Given the description of an element on the screen output the (x, y) to click on. 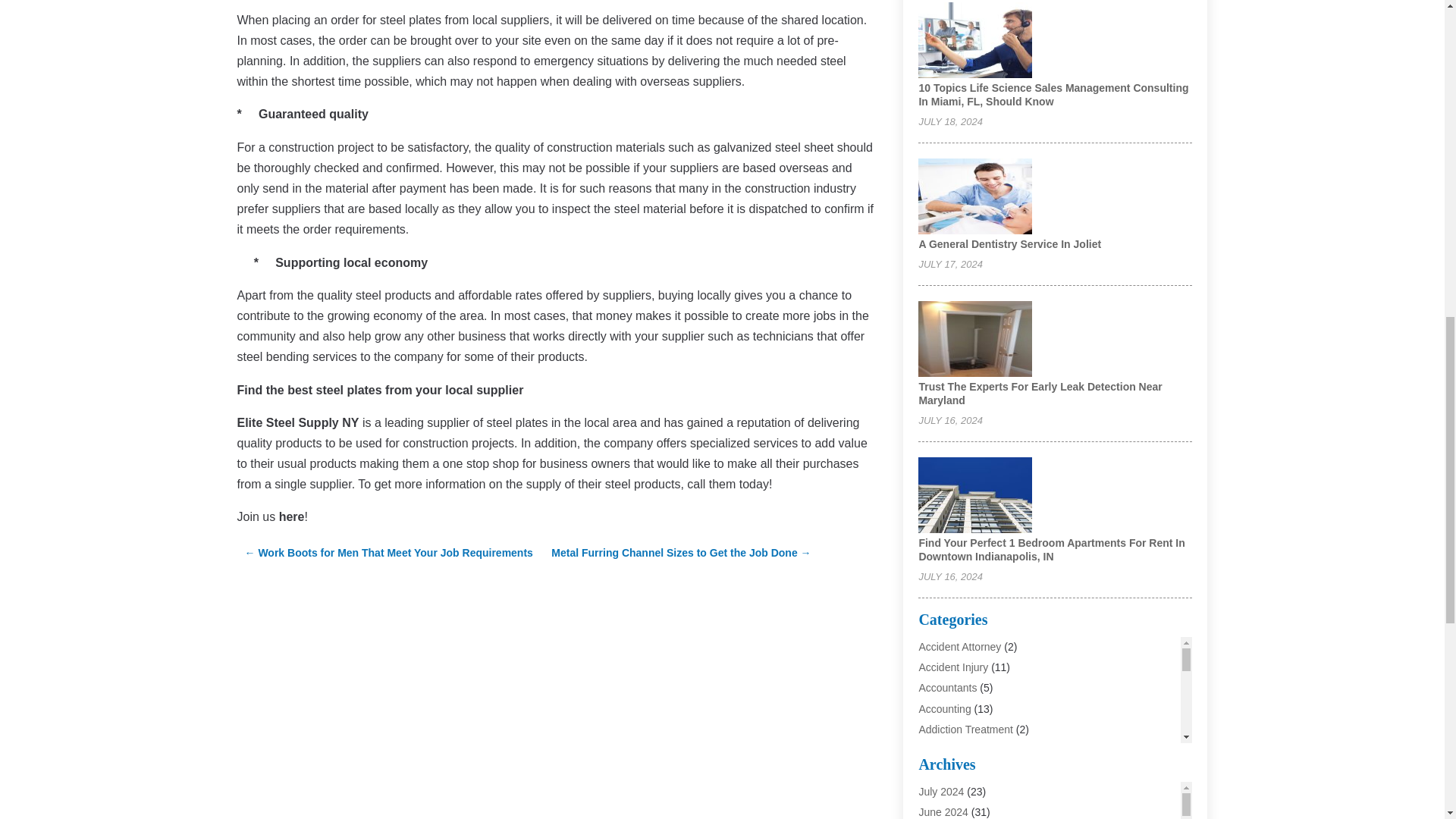
Accountants (947, 687)
Adventure And Sports (970, 811)
Addiction Treatment Center (982, 749)
Trust The Experts For Early Leak Detection Near Maryland (1039, 393)
Accounting (944, 708)
Addiction Treatment (965, 729)
Accident Attorney (959, 646)
Addiction Treatment Support (985, 770)
Accident Injury (953, 666)
A General Dentistry Service In Joliet (1009, 244)
Adoption (938, 790)
